Given the description of an element on the screen output the (x, y) to click on. 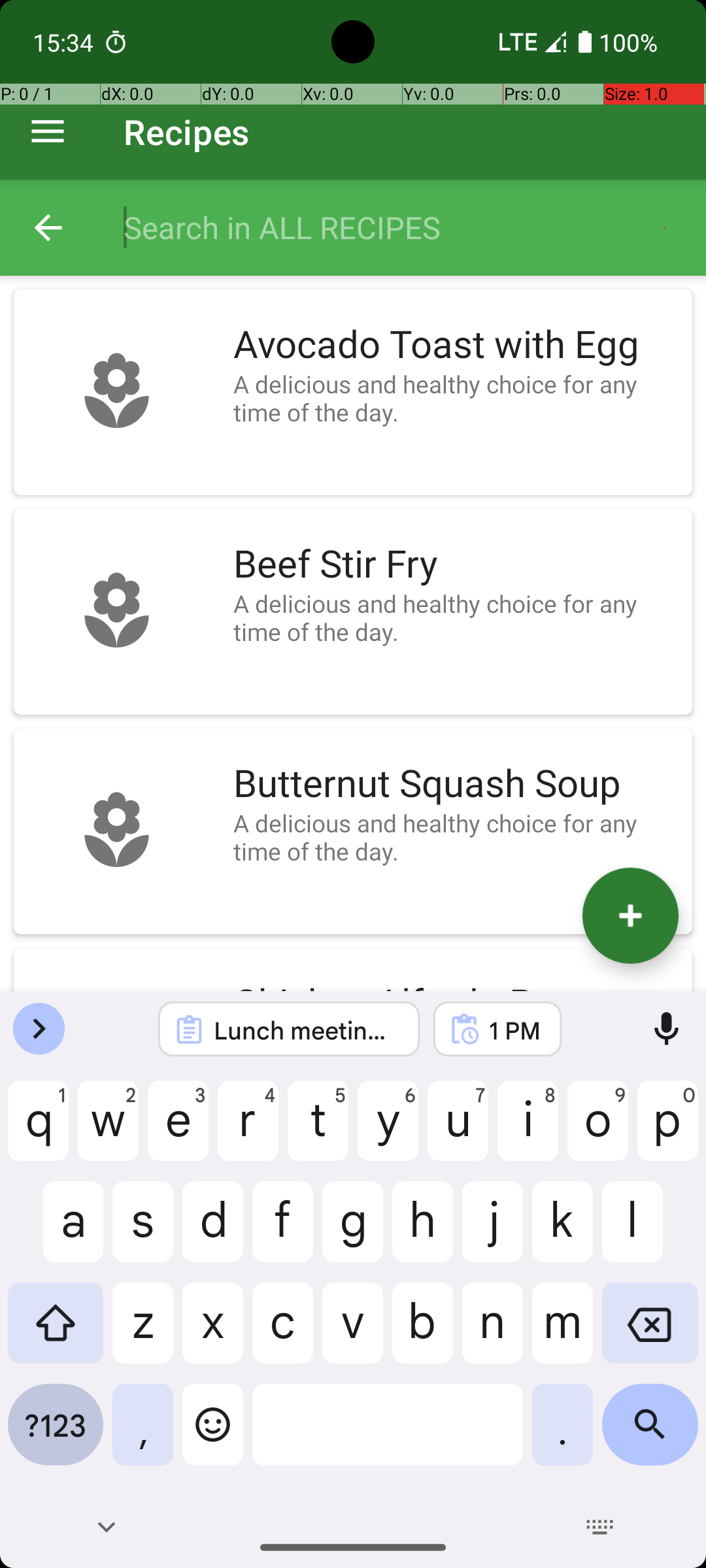
Search in ALL RECIPES Element type: android.widget.AutoCompleteTextView (400, 227)
Lunch meeting with Sarah at 1 PM Cafe L'amour. Element type: android.widget.TextView (305, 1029)
1 PM Element type: android.widget.TextView (514, 1029)
